Given the description of an element on the screen output the (x, y) to click on. 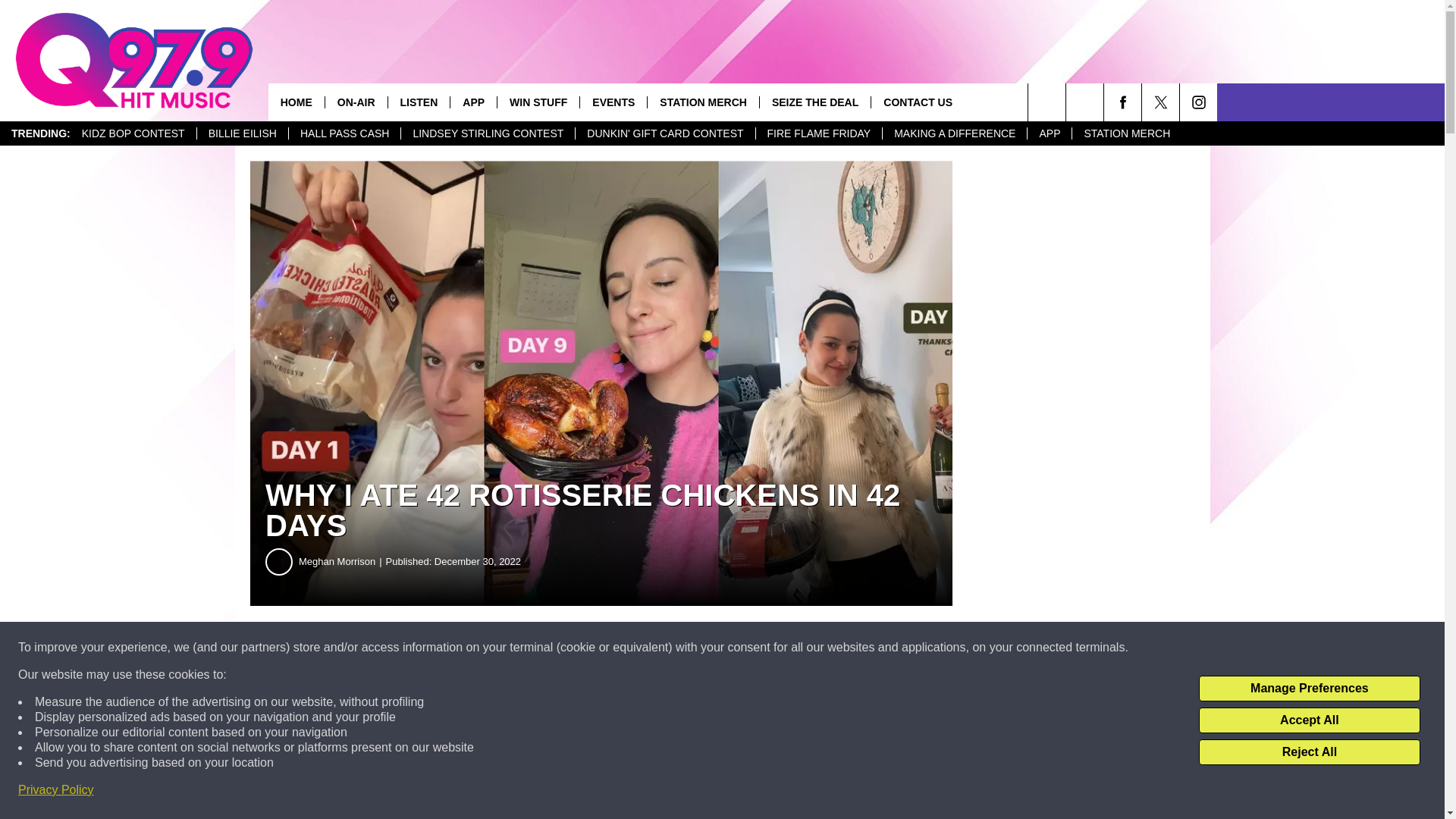
Accept All (1309, 720)
STATION MERCH (1125, 133)
Manage Preferences (1309, 688)
HOME (295, 102)
ON-AIR (355, 102)
Privacy Policy (55, 789)
DUNKIN' GIFT CARD CONTEST (664, 133)
Share on Facebook (460, 647)
LISTEN (418, 102)
Reject All (1309, 751)
